Given the description of an element on the screen output the (x, y) to click on. 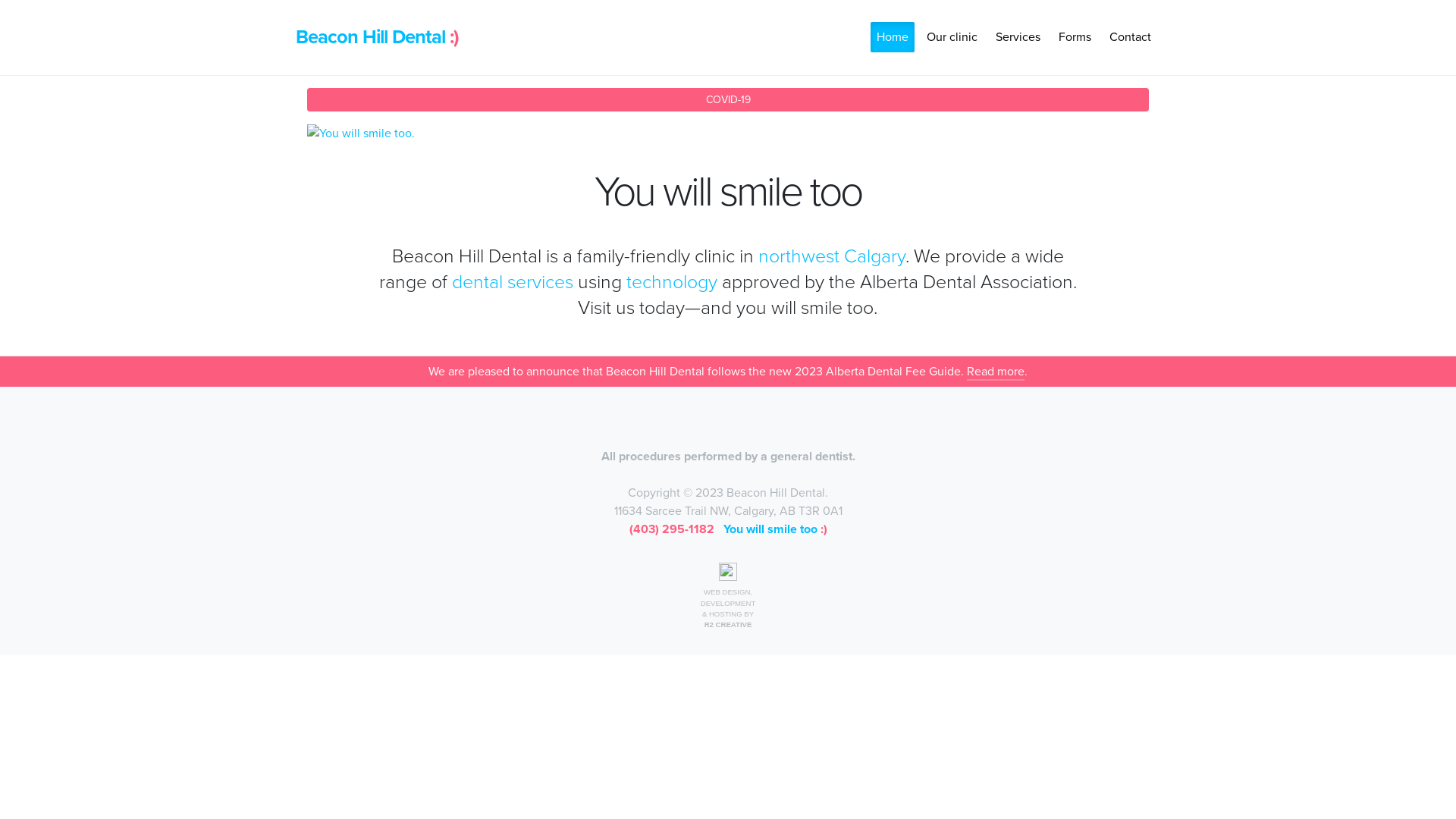
Services Element type: text (1017, 36)
Home Element type: text (892, 36)
Our clinic Element type: text (951, 36)
WEB DESIGN,
DEVELOPMENT
& HOSTING BY
R2 CREATIVE Element type: text (727, 596)
Forms Element type: text (1074, 36)
Contact Element type: text (1130, 36)
Read more Element type: text (995, 372)
dental services Element type: text (512, 281)
northwest Calgary Element type: text (831, 255)
technology Element type: text (671, 281)
COVID-19 Element type: text (727, 99)
Beacon Hill Dental :) Element type: text (376, 36)
